Given the description of an element on the screen output the (x, y) to click on. 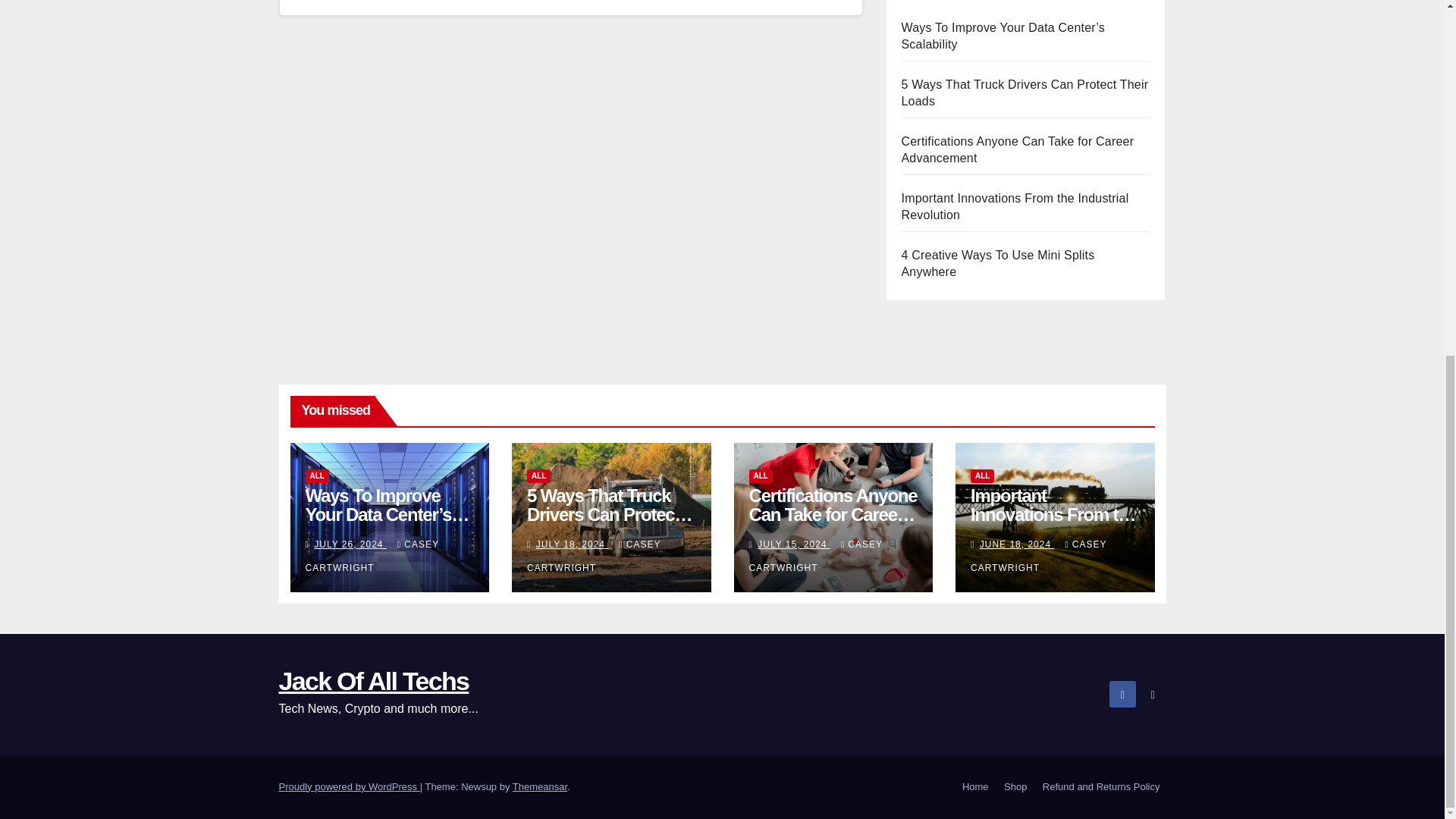
5 Ways That Truck Drivers Can Protect Their Loads (610, 514)
Certifications Anyone Can Take for Career Advancement (833, 514)
5 Ways That Truck Drivers Can Protect Their Loads (1024, 92)
ALL (761, 476)
JULY 26, 2024 (350, 543)
CASEY CARTWRIGHT (594, 555)
ALL (538, 476)
ALL (316, 476)
Home (975, 786)
Important Innovations From the Industrial Revolution (1014, 206)
4 Creative Ways To Use Mini Splits Anywhere (997, 263)
Refund and Returns Policy (1101, 786)
CASEY CARTWRIGHT (371, 555)
